Given the description of an element on the screen output the (x, y) to click on. 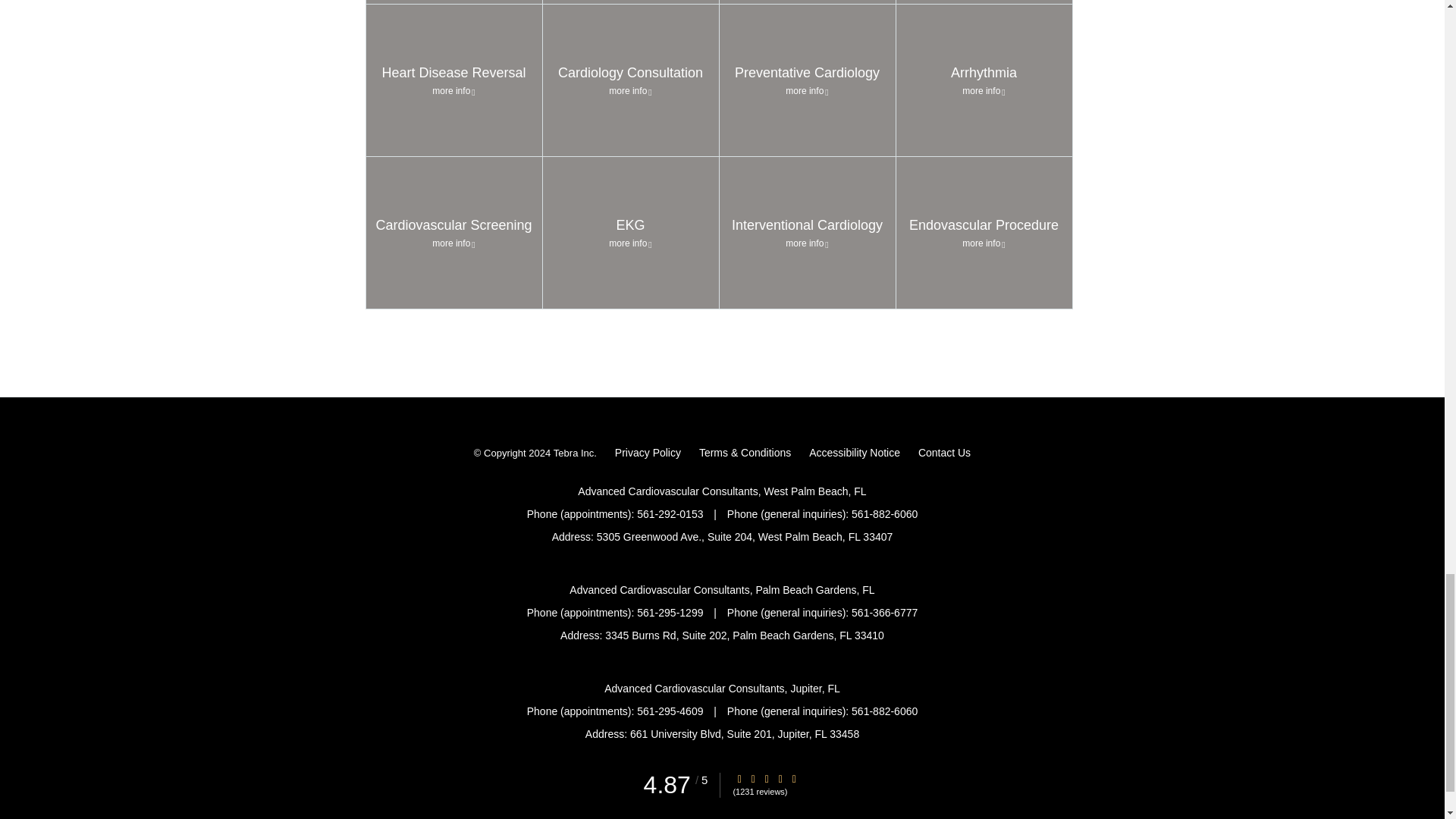
Star Rating (766, 778)
Star Rating (753, 778)
Star Rating (780, 778)
Star Rating (738, 778)
Star Rating (794, 778)
